Given the description of an element on the screen output the (x, y) to click on. 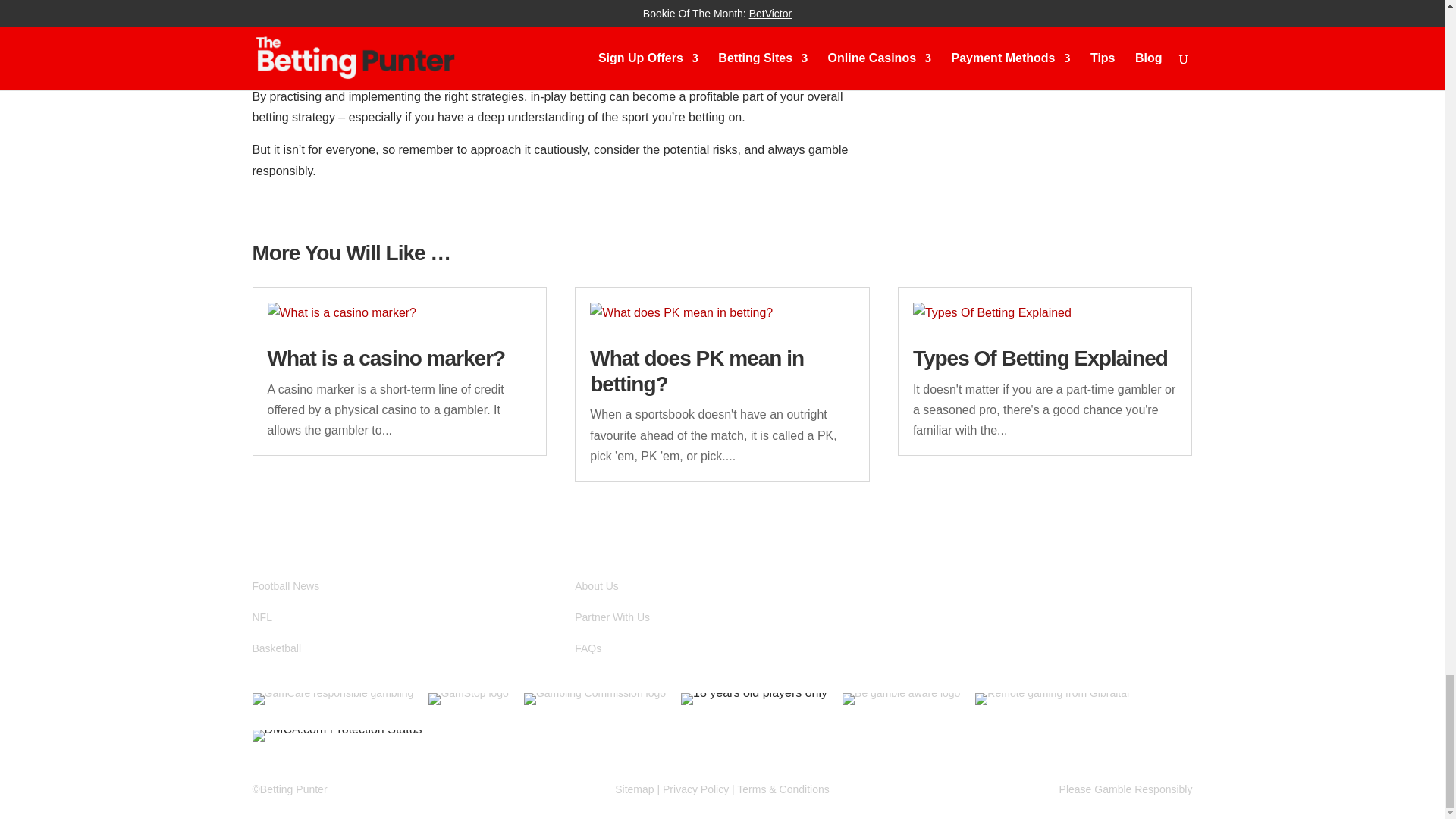
Privacy Policy (695, 788)
Follow on X (909, 602)
Follow on Facebook (940, 602)
Visit the gambling commission for rules (594, 698)
We care about gambling (332, 698)
If you need help contact Be Gamble Aware (901, 698)
Gibraltar remote gambling rules (1052, 693)
Sitemap (633, 788)
Know when to stop gambling (468, 698)
